Given the description of an element on the screen output the (x, y) to click on. 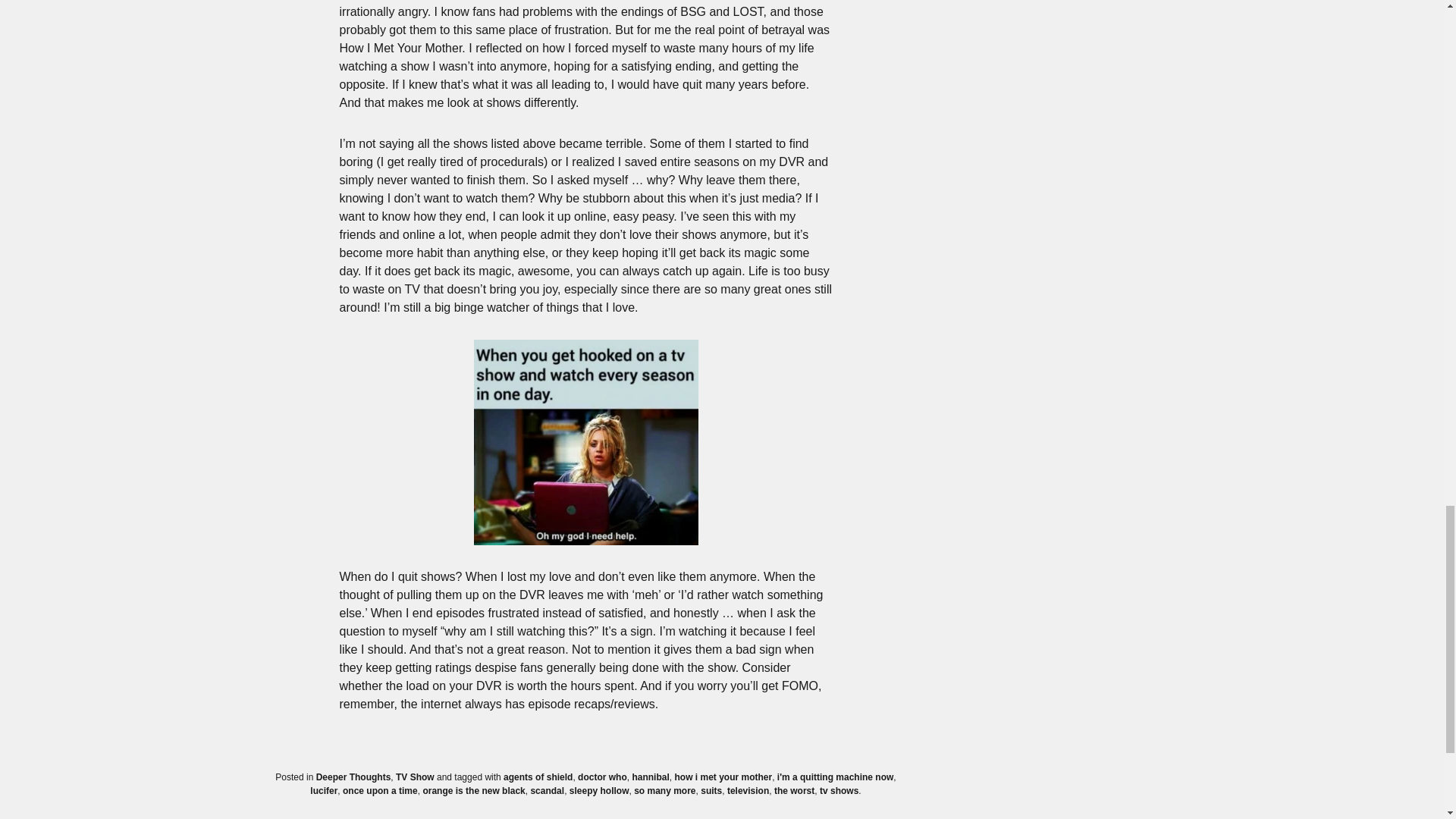
sleepy hollow (598, 790)
TV Show (414, 777)
i'm a quitting machine now (835, 777)
Deeper Thoughts (353, 777)
once upon a time (379, 790)
so many more (664, 790)
tv shows (839, 790)
lucifer (323, 790)
television (747, 790)
suits (711, 790)
